Given the description of an element on the screen output the (x, y) to click on. 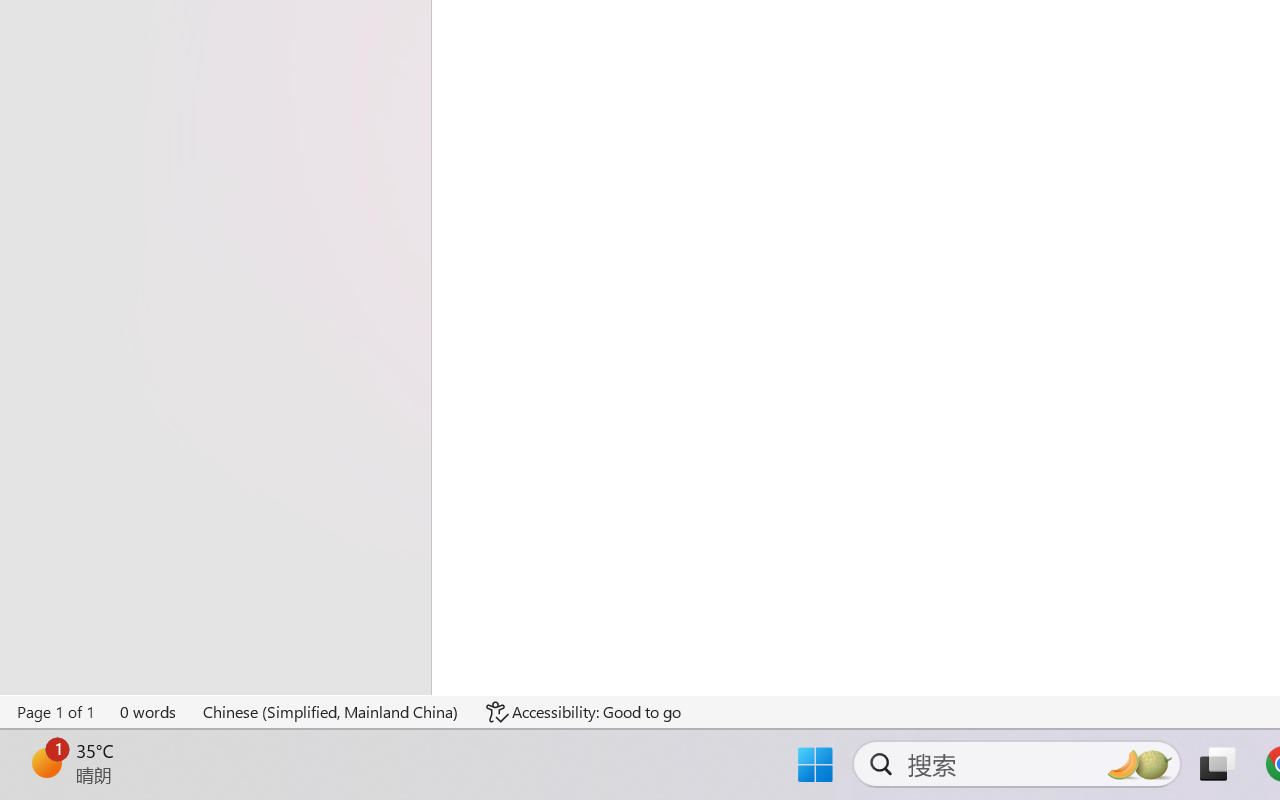
Language Chinese (Simplified, Mainland China) (331, 712)
